Given the description of an element on the screen output the (x, y) to click on. 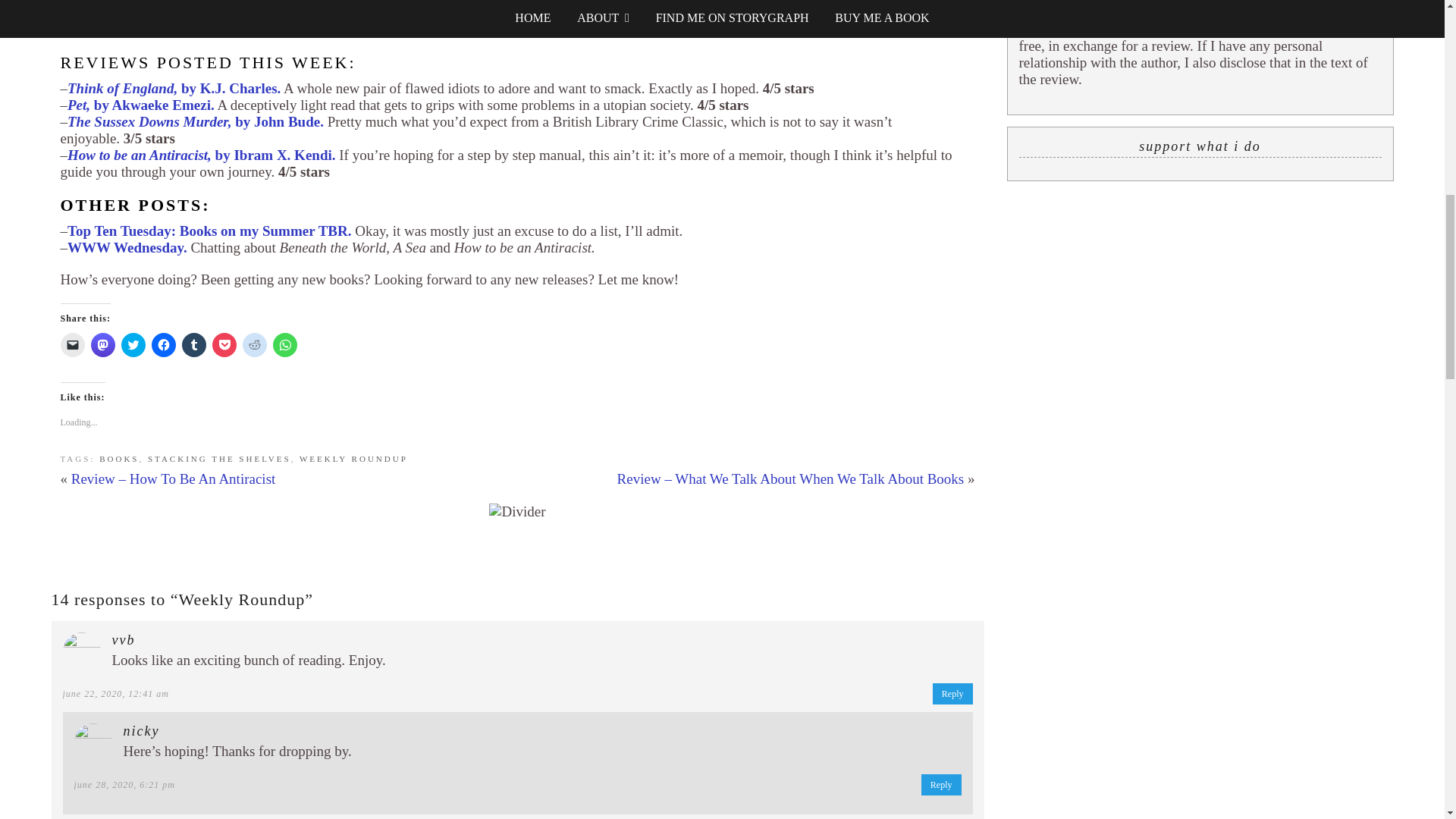
Click to share on Mastodon (102, 344)
Click to share on Reddit (254, 344)
Click to share on Twitter (132, 344)
Click to email a link to a friend (72, 344)
Pet, by Akwaeke Emezi. (140, 105)
Click to share on Facebook (163, 344)
How to be an Antiracist, by Ibram X. Kendi. (201, 154)
Click to share on Pocket (223, 344)
Think of England, by K.J. Charles. (173, 88)
WWW Wednesday. (126, 247)
